Given the description of an element on the screen output the (x, y) to click on. 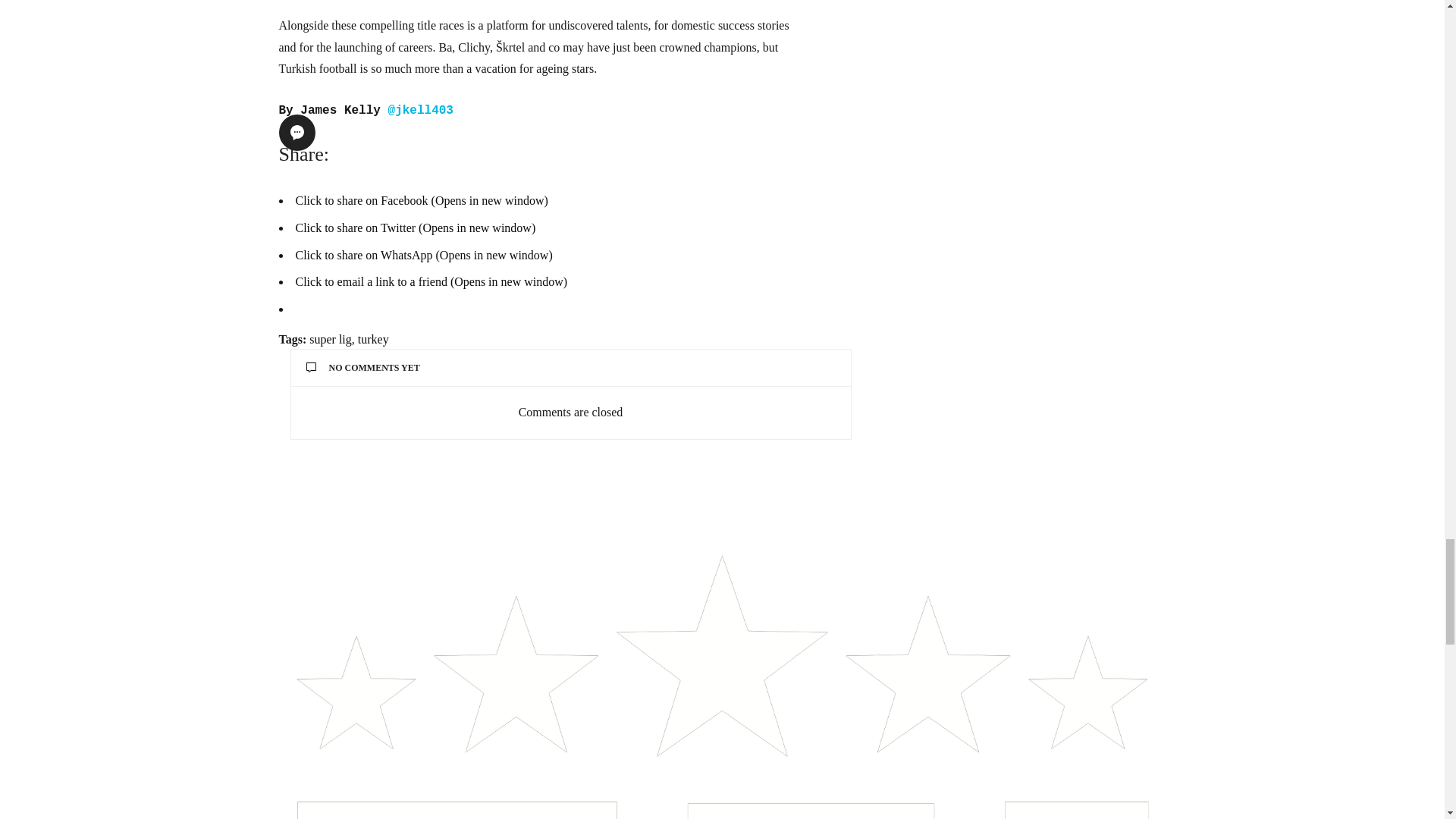
Click to share on Facebook (421, 200)
Click to share on Twitter (415, 227)
Click to share on WhatsApp (424, 254)
Click to email a link to a friend (431, 281)
